Given the description of an element on the screen output the (x, y) to click on. 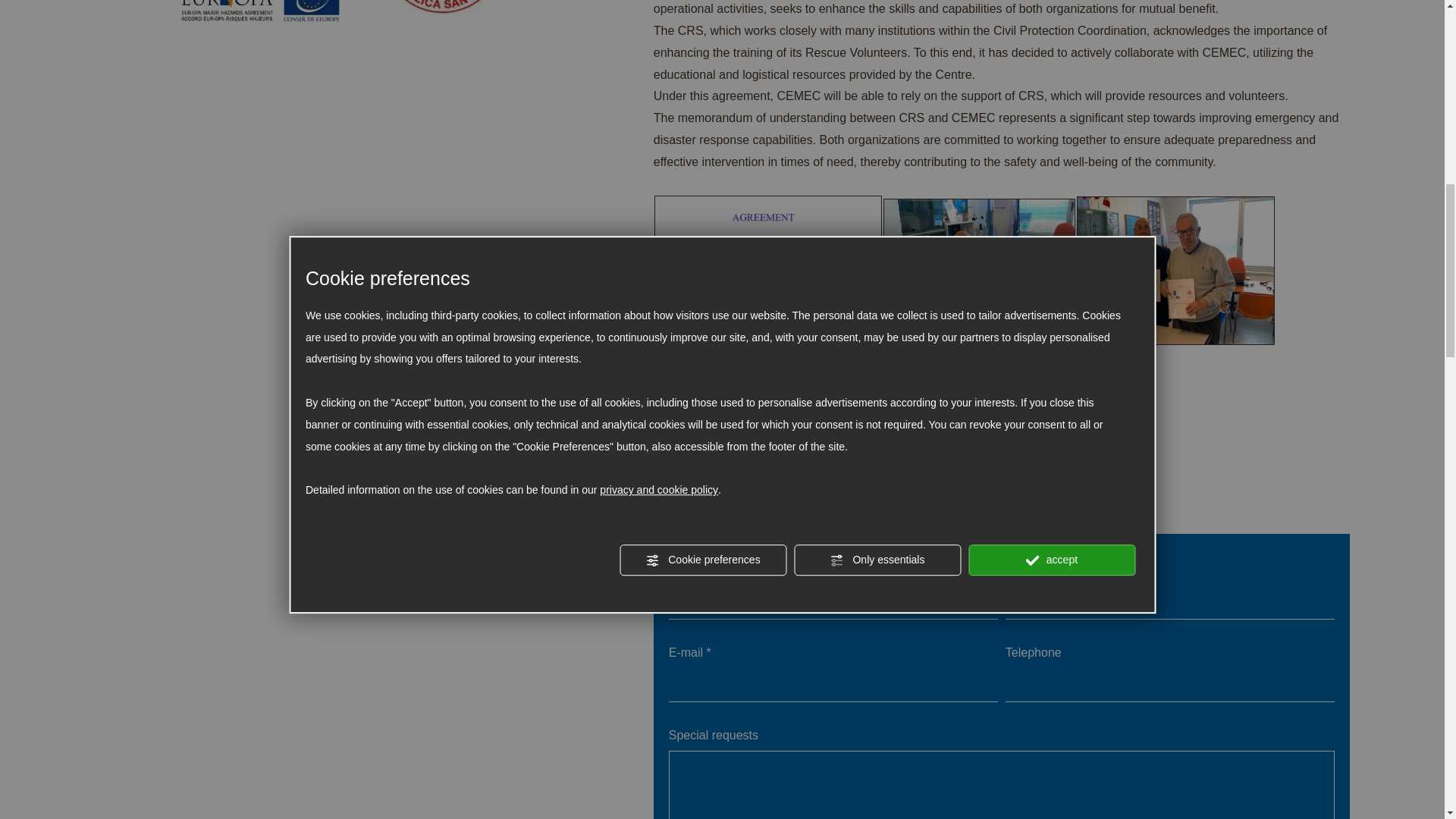
Download Press release (718, 499)
